Given the description of an element on the screen output the (x, y) to click on. 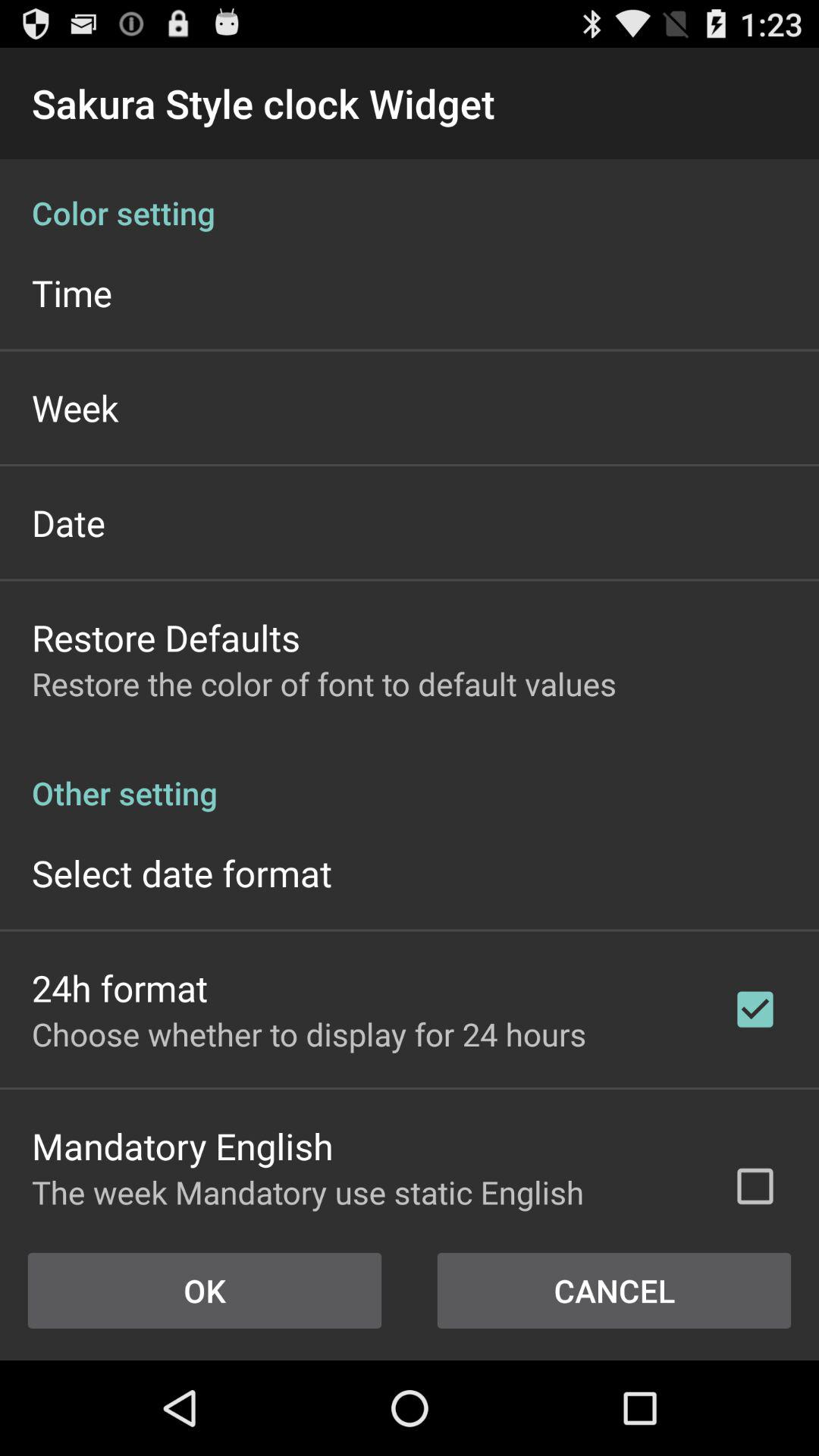
select item above week (71, 292)
